Given the description of an element on the screen output the (x, y) to click on. 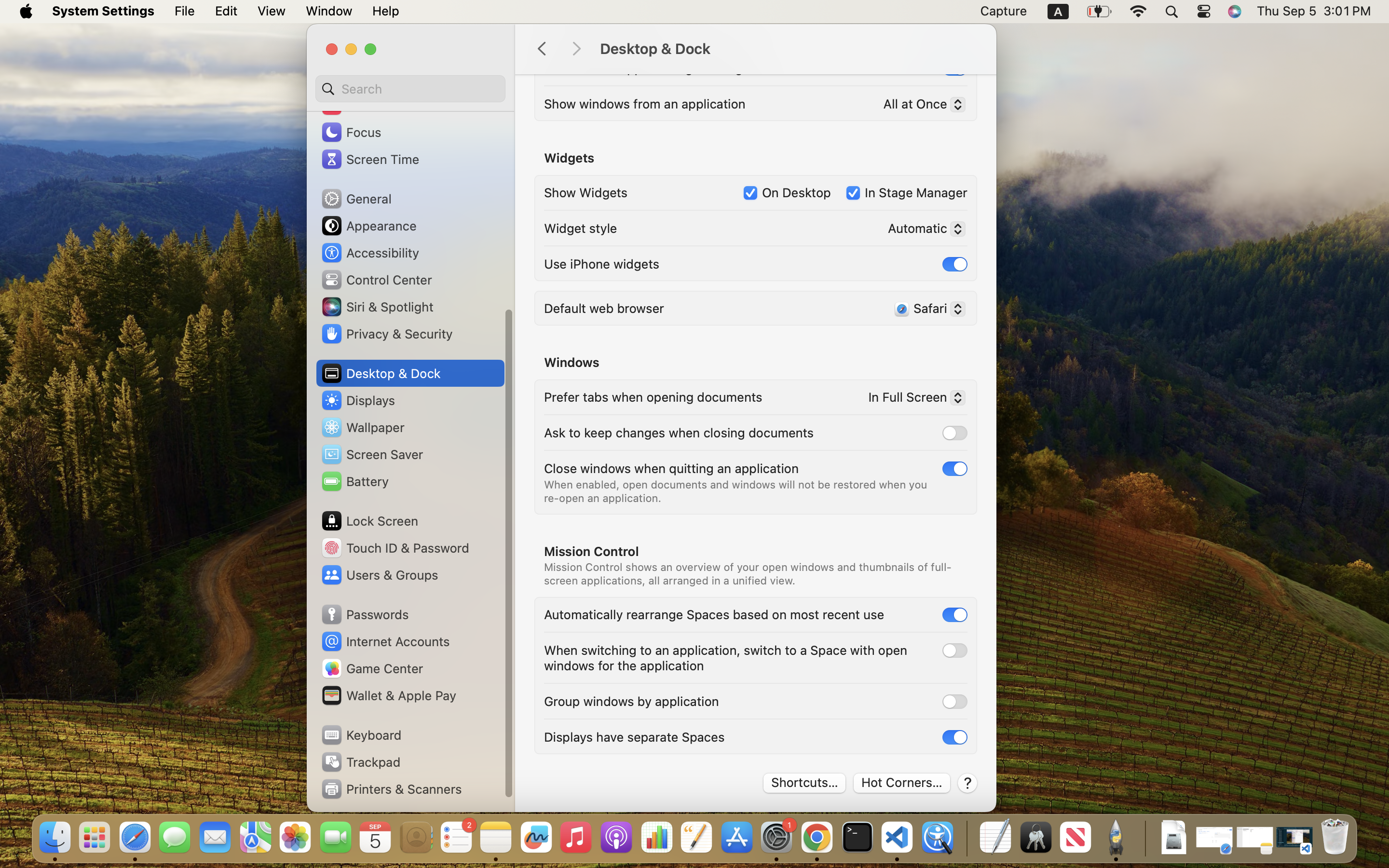
Sound Element type: AXStaticText (351, 104)
Ask to keep changes when closing documents Element type: AXStaticText (679, 431)
Wallet & Apple Pay Element type: AXStaticText (388, 694)
Show Widgets Element type: AXStaticText (585, 191)
Group windows by application Element type: AXStaticText (631, 700)
